Given the description of an element on the screen output the (x, y) to click on. 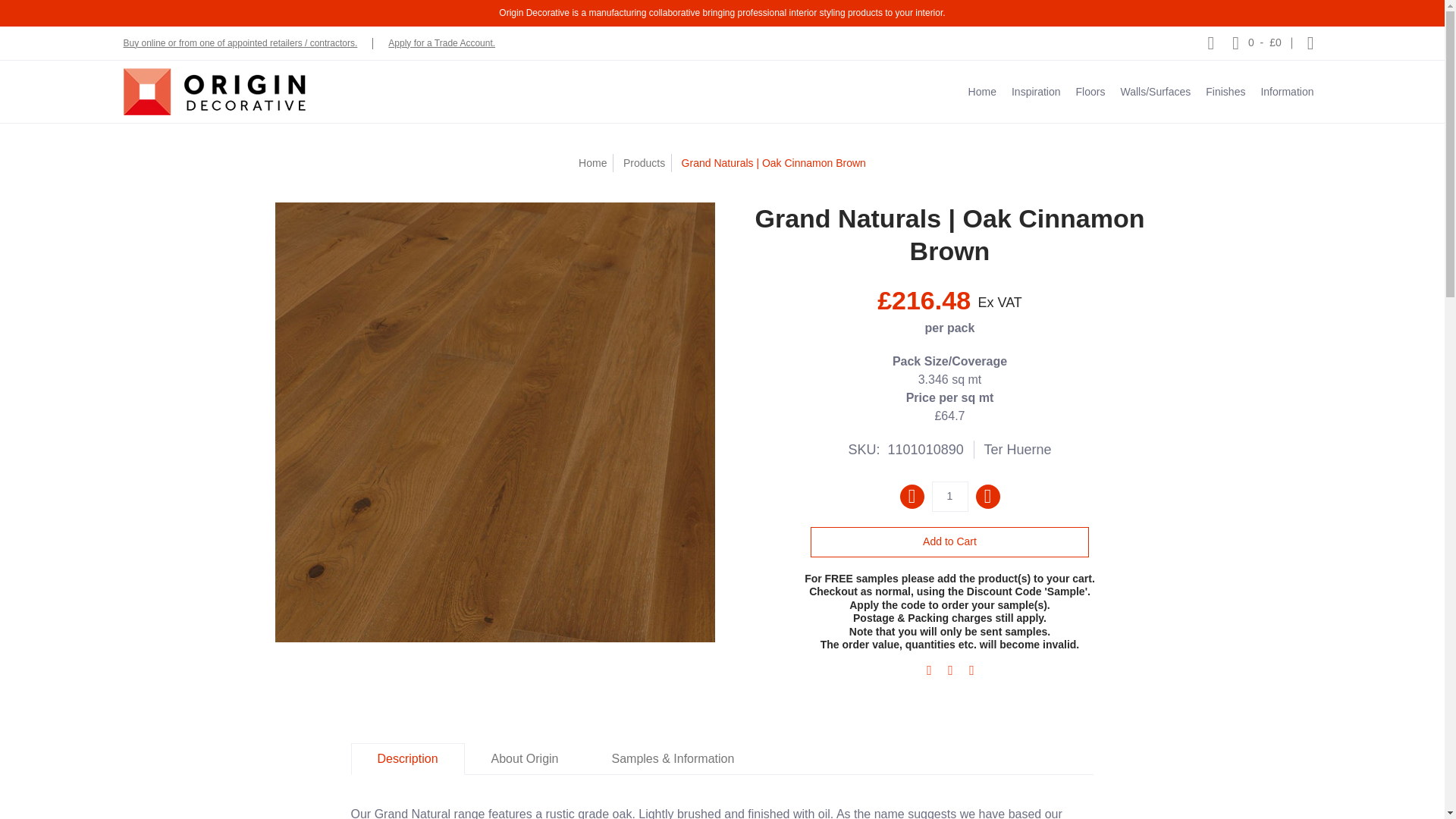
Origin Decorative (213, 91)
Cart (1256, 42)
Inspiration (1036, 91)
Add to Cart (949, 541)
Log in (1310, 42)
Information (1286, 91)
Origin Retailers and Contractors (239, 42)
Products (644, 162)
Apply for a Trade Account. (441, 42)
Home (592, 162)
